Given the description of an element on the screen output the (x, y) to click on. 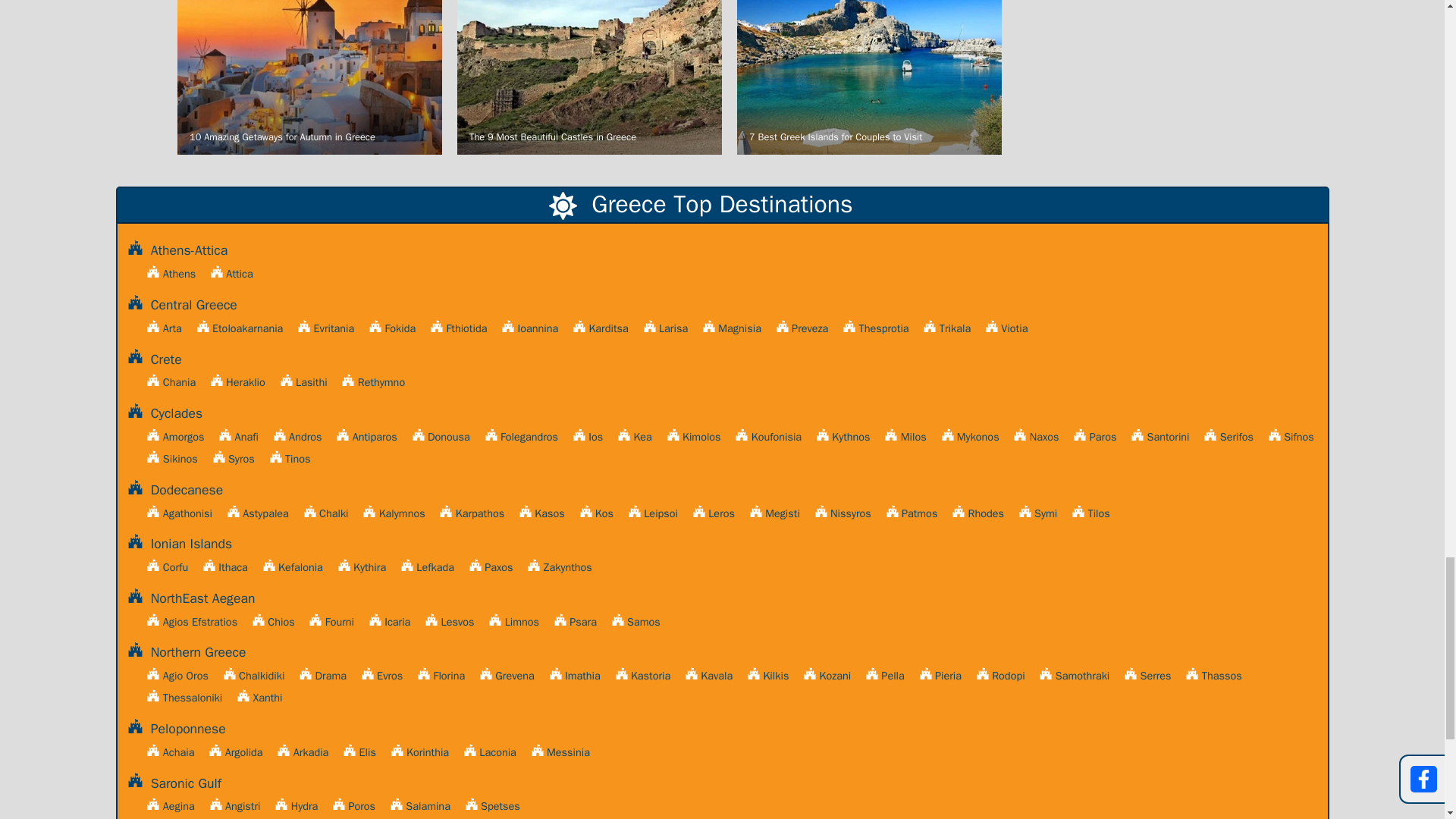
The 9 Most Beautiful Castles in Greece (589, 81)
The 9 Most Beautiful Castles in Greece (589, 81)
7 Best Greek Islands for Couples to Visit (869, 81)
10 Amazing Getaways for Autumn in Greece (309, 81)
10 Amazing Getaways for Autumn in Greece (309, 81)
7 Best Greek Islands for Couples to Visit (869, 81)
